Given the description of an element on the screen output the (x, y) to click on. 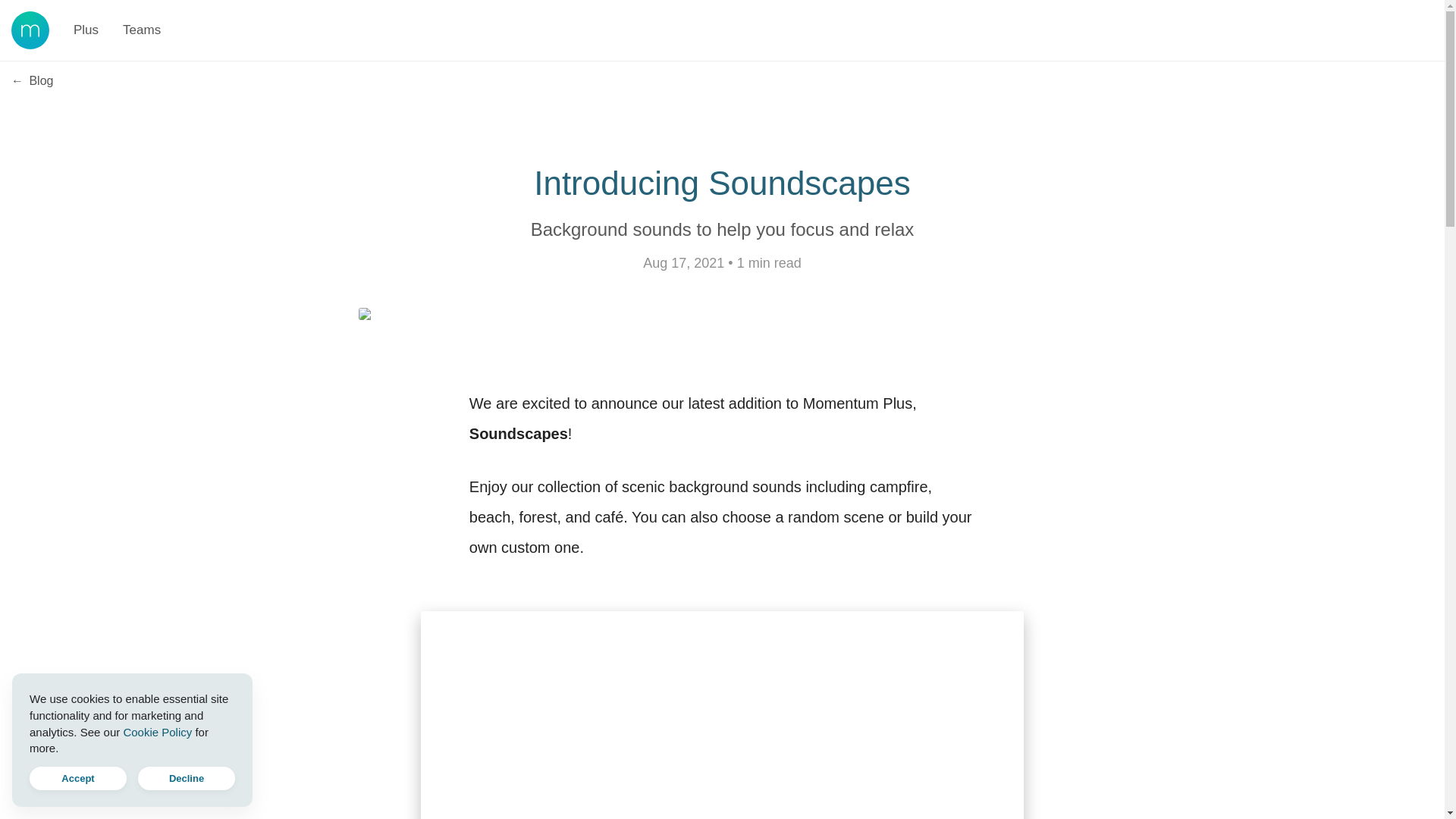
Introducing Soundscapes (722, 182)
Teams (141, 30)
Cookie Policy (157, 731)
Accept (77, 778)
Decline (186, 778)
